Given the description of an element on the screen output the (x, y) to click on. 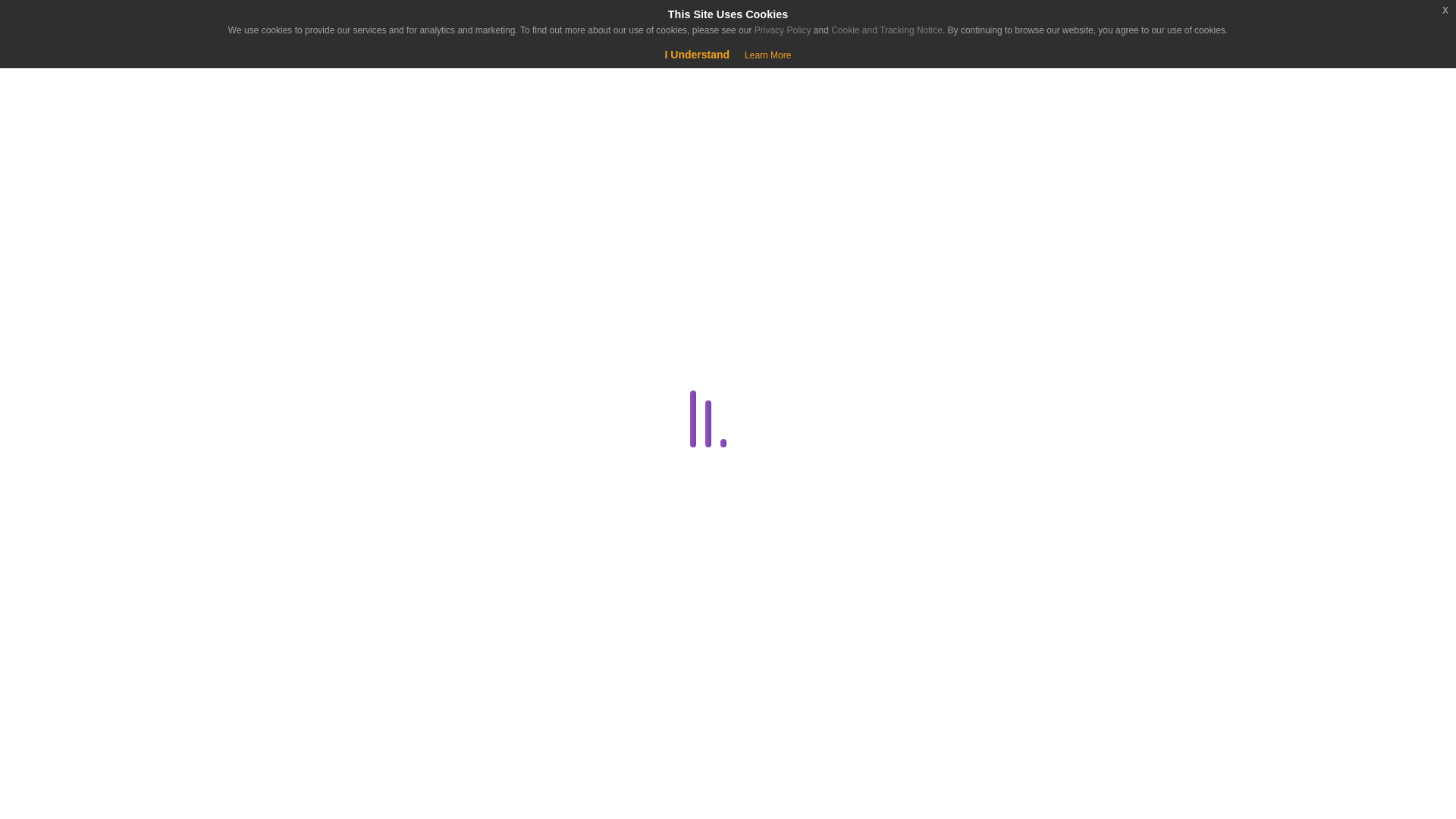
Databases (281, 458)
Linux Administration (281, 750)
Domains and DNS (281, 531)
Hosting Dashboard (281, 713)
General (281, 677)
FTP (283, 640)
Colocation Guides (283, 385)
Home (94, 138)
Hesab (93, 23)
Email (281, 604)
Shopping Cart (59, 76)
Domains API (283, 567)
Qeydiyyat (129, 76)
Dedicated Server Guides (281, 495)
Affiliates (283, 312)
